Given the description of an element on the screen output the (x, y) to click on. 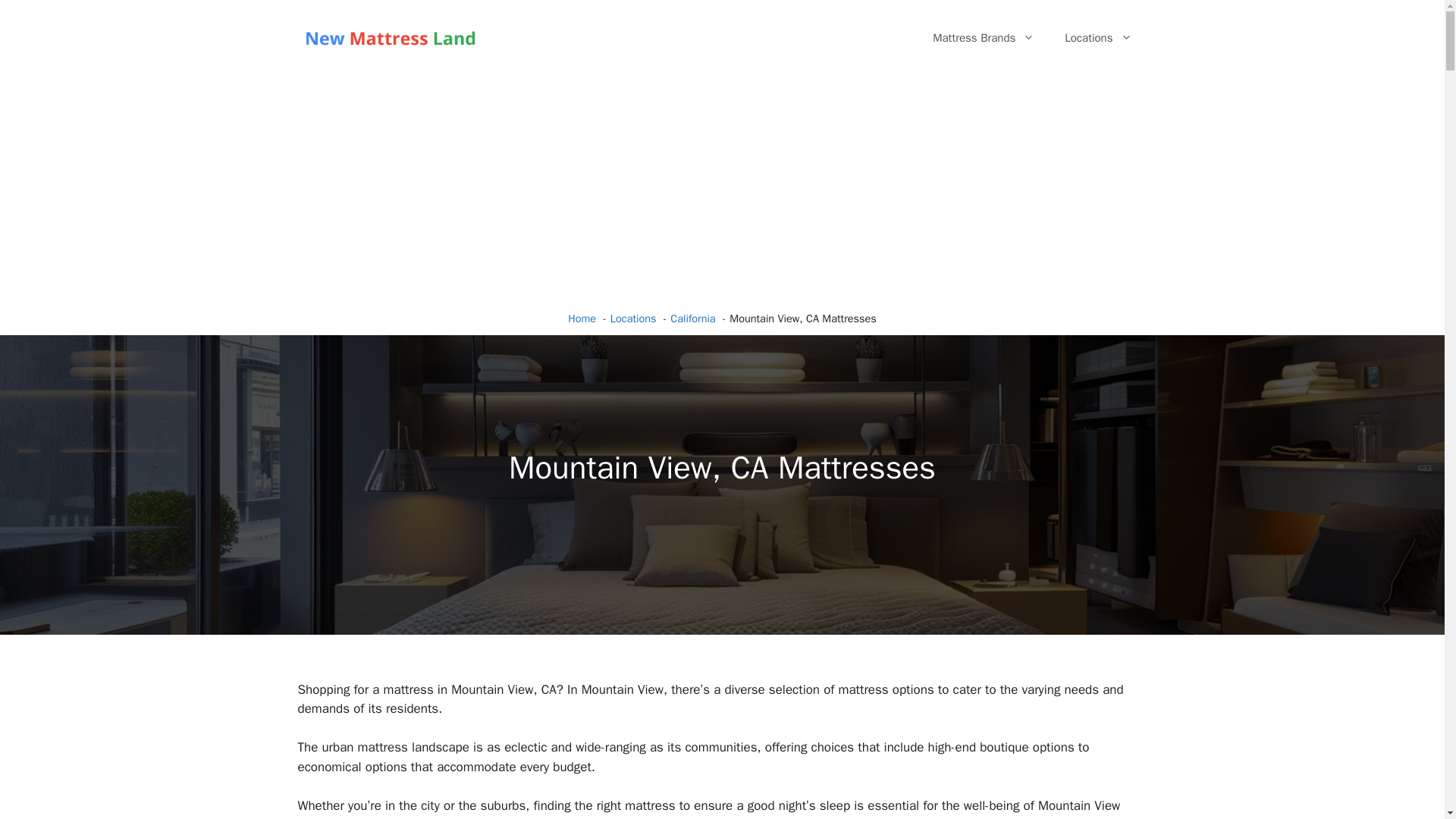
Home (581, 318)
Locations (633, 318)
Locations (1098, 37)
Mattress Brands (983, 37)
California (691, 318)
